Given the description of an element on the screen output the (x, y) to click on. 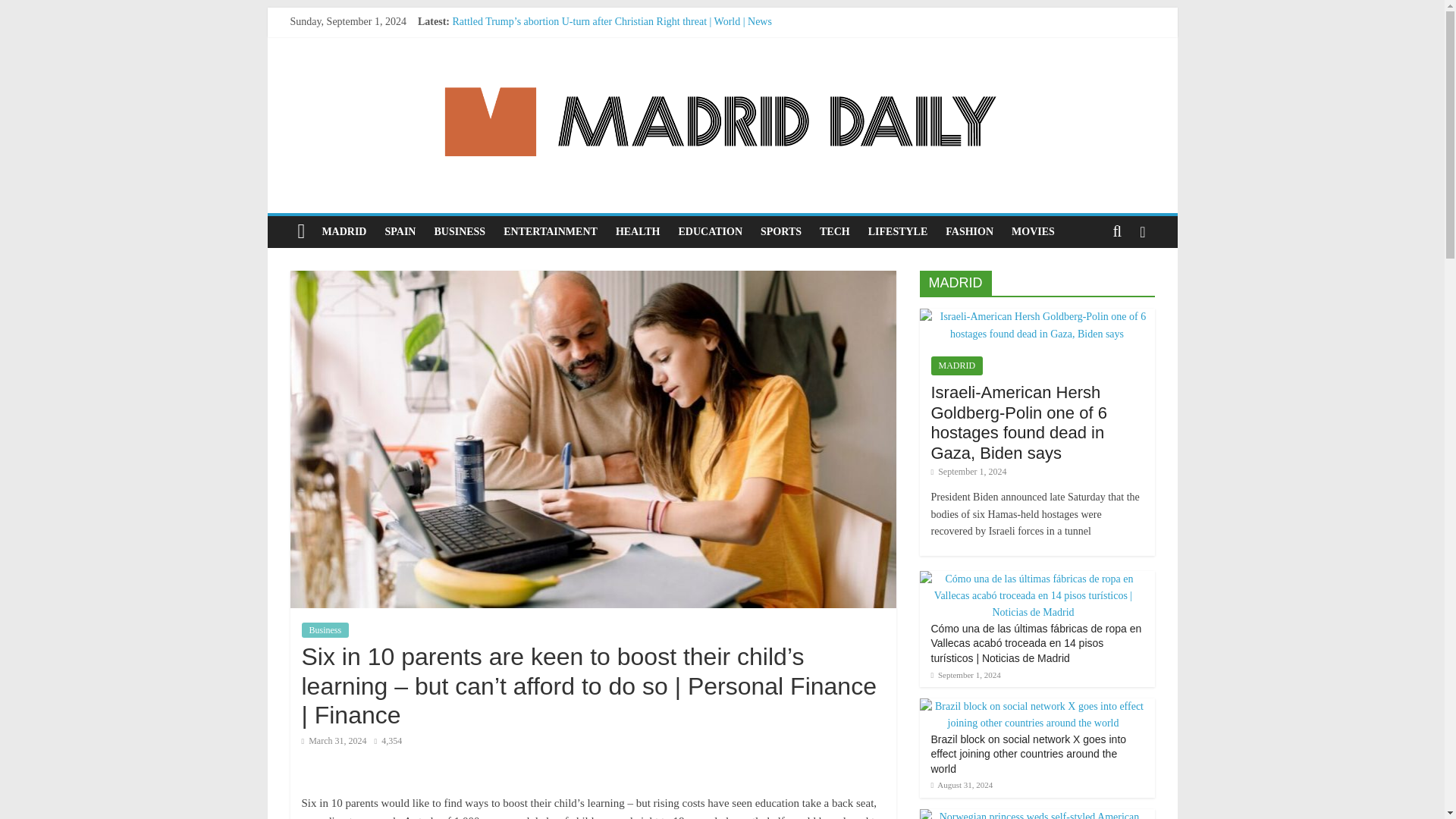
4,354 (387, 740)
EDUCATION (709, 231)
SPORTS (780, 231)
MADRID (344, 231)
FASHION (969, 231)
March 31, 2024 (333, 740)
BUSINESS (460, 231)
ENTERTAINMENT (551, 231)
